Given the description of an element on the screen output the (x, y) to click on. 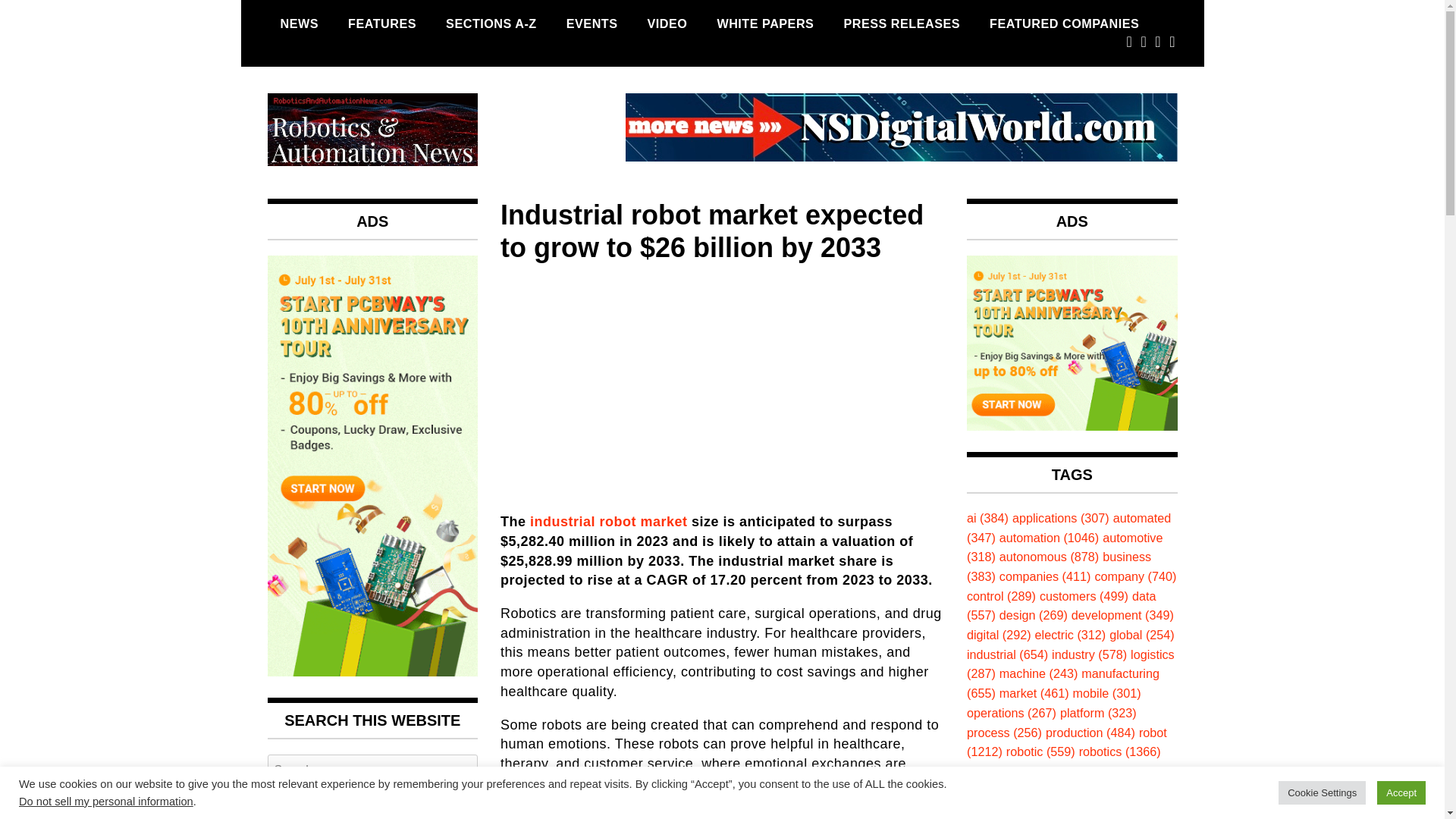
NEWS (298, 23)
Search (371, 804)
Advertisement (721, 383)
FEATURES (382, 23)
Search (371, 804)
SECTIONS A-Z (490, 23)
